Given the description of an element on the screen output the (x, y) to click on. 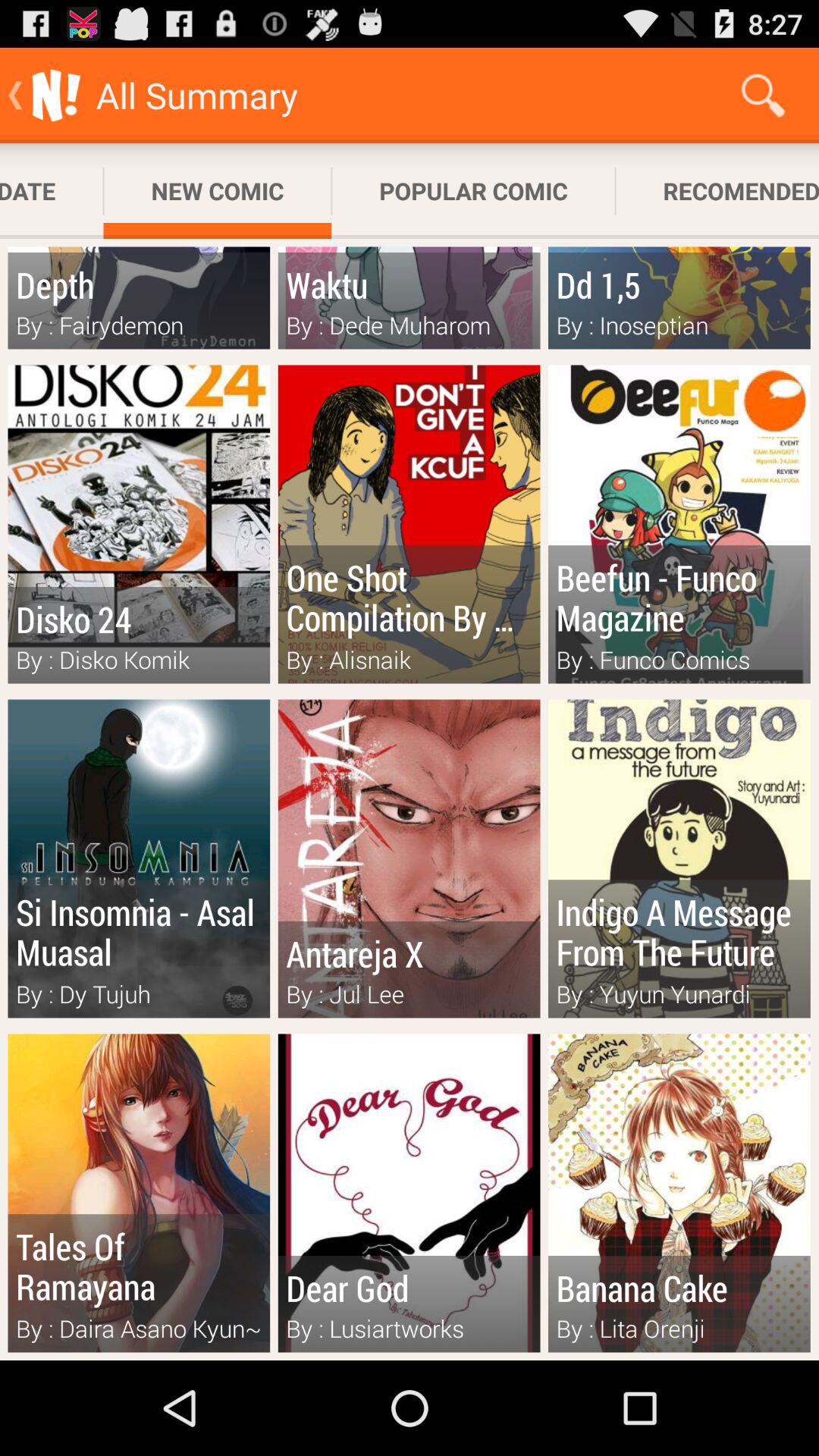
flip until the subscribed update item (51, 190)
